Given the description of an element on the screen output the (x, y) to click on. 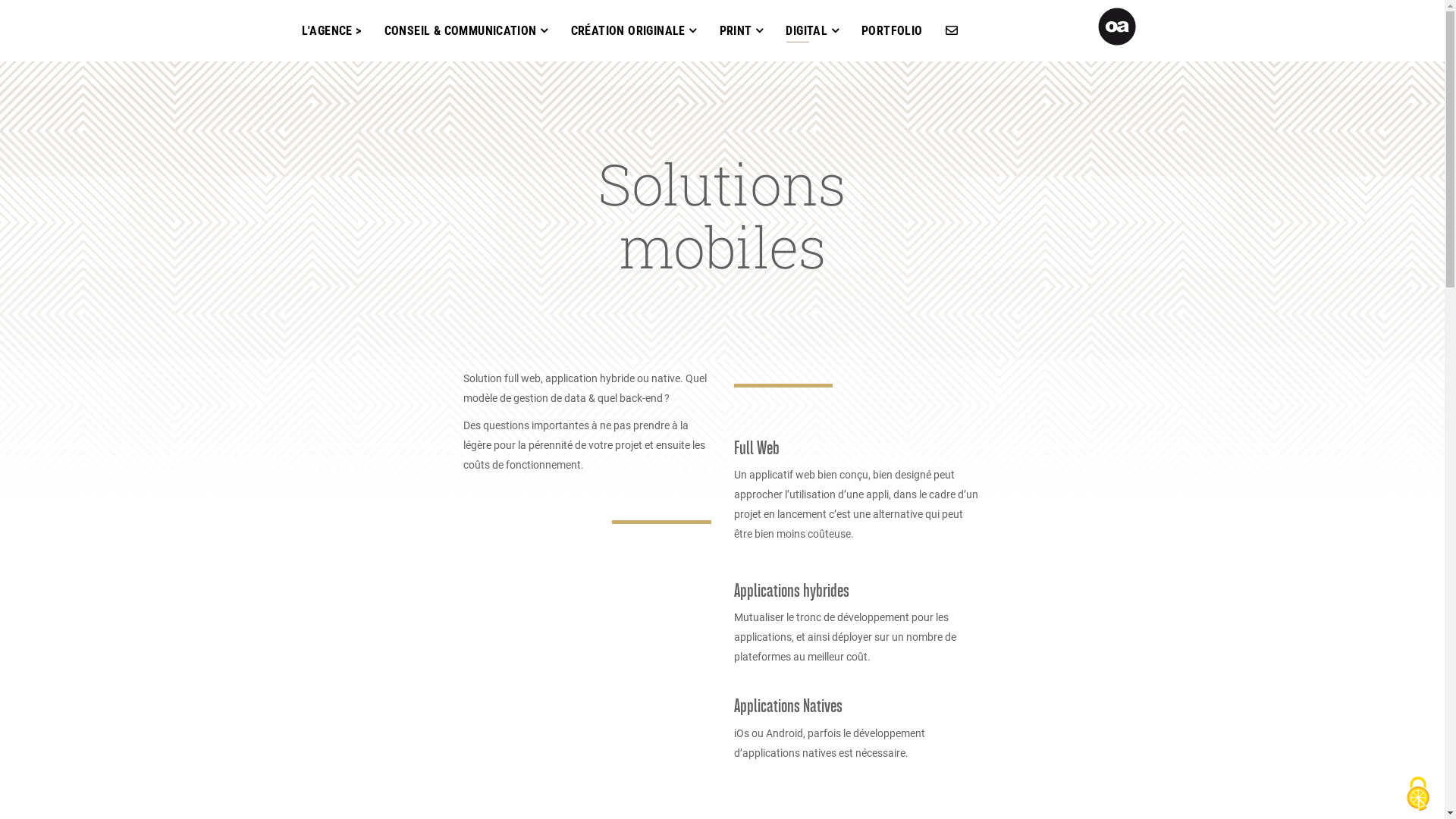
PORTFOLIO Element type: text (892, 30)
DIGITAL Element type: text (812, 30)
Cookies (modal window) Element type: hover (1418, 793)
L'AGENCE > Element type: text (330, 30)
PRINT Element type: text (741, 30)
CONSEIL & COMMUNICATION Element type: text (466, 30)
